Given the description of an element on the screen output the (x, y) to click on. 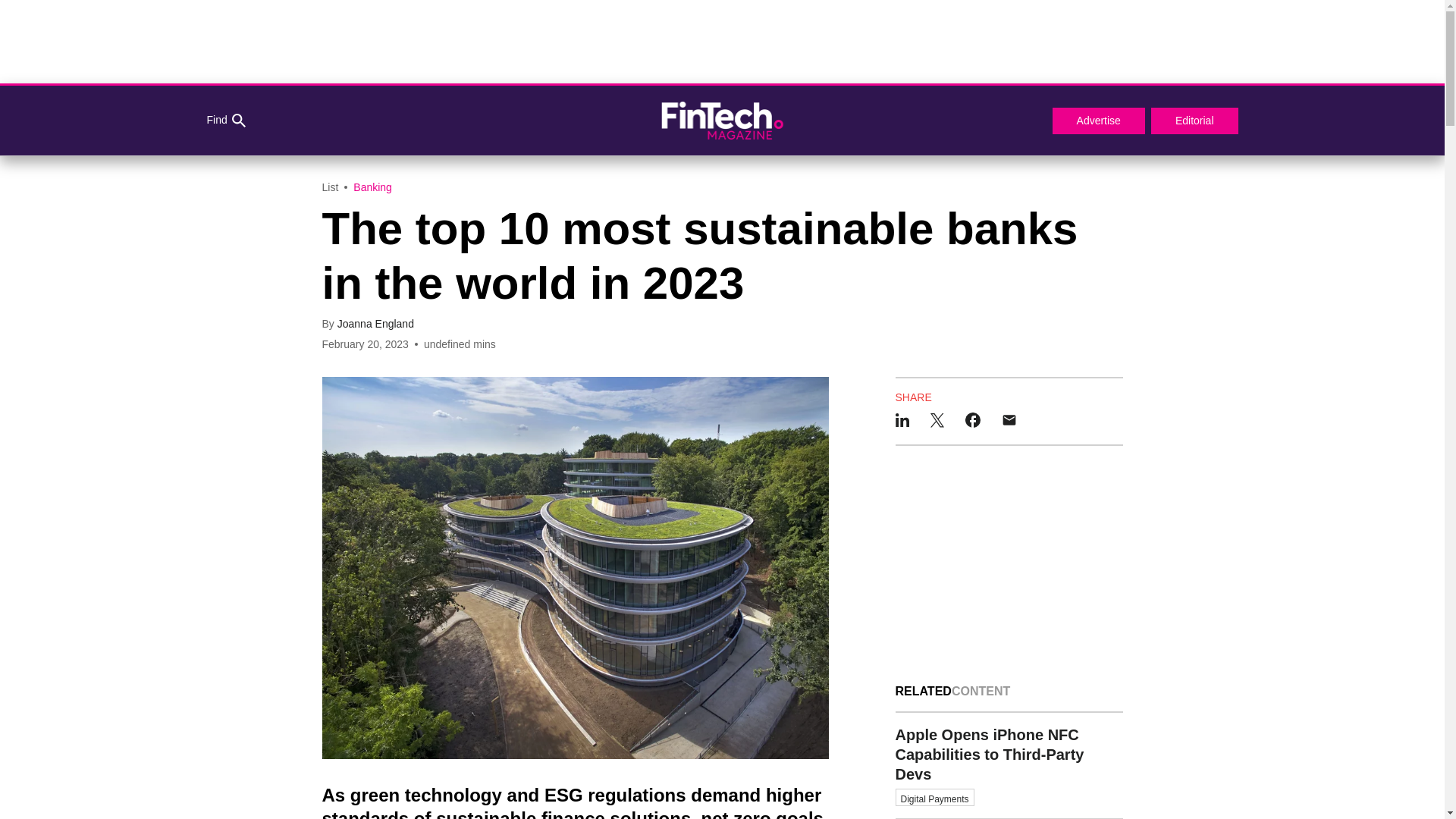
Advertise (1098, 121)
Find (225, 120)
Editorial (1195, 121)
Joanna England (375, 323)
